Given the description of an element on the screen output the (x, y) to click on. 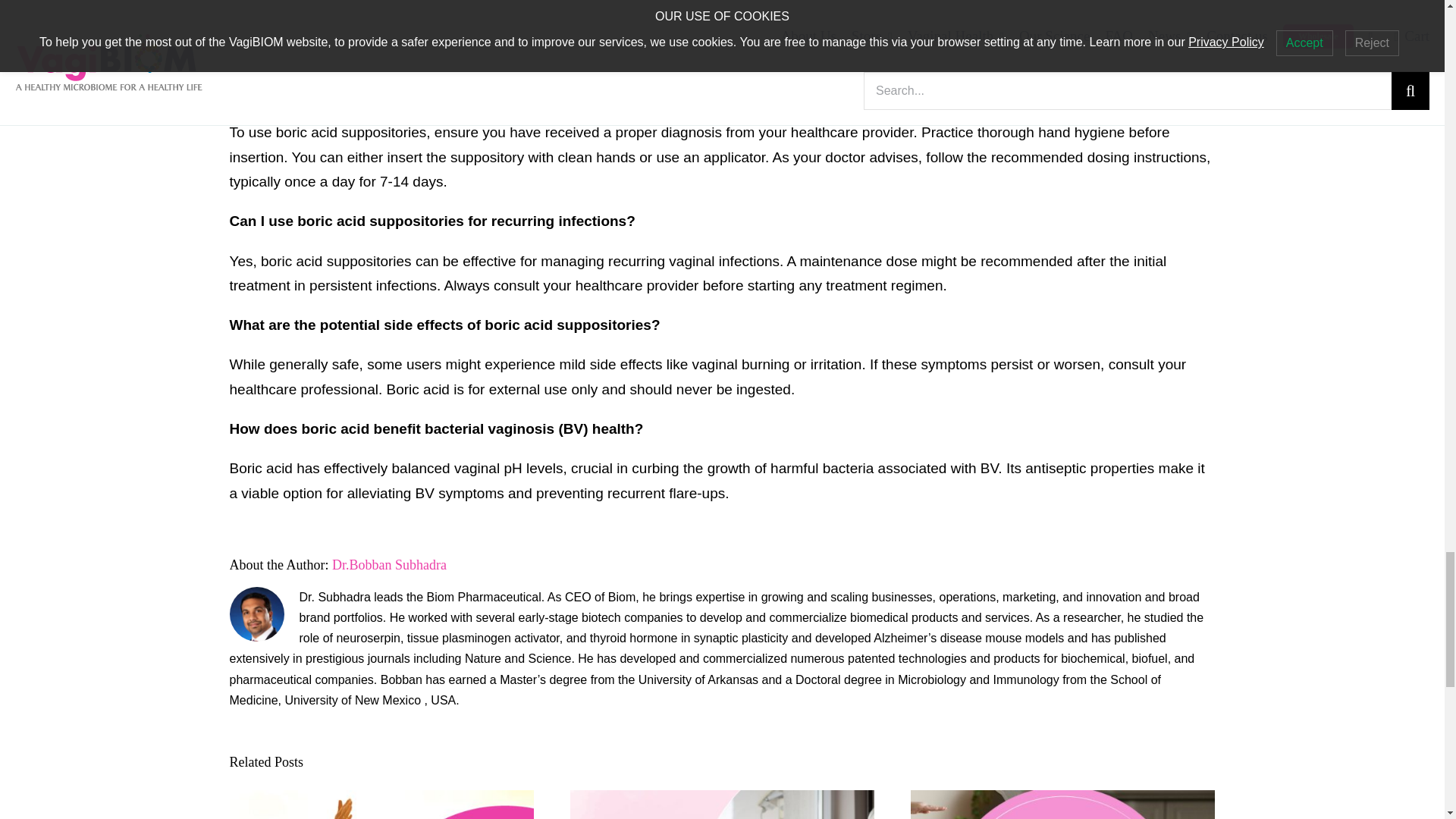
Posts by Dr.Bobban Subhadra (388, 564)
